Given the description of an element on the screen output the (x, y) to click on. 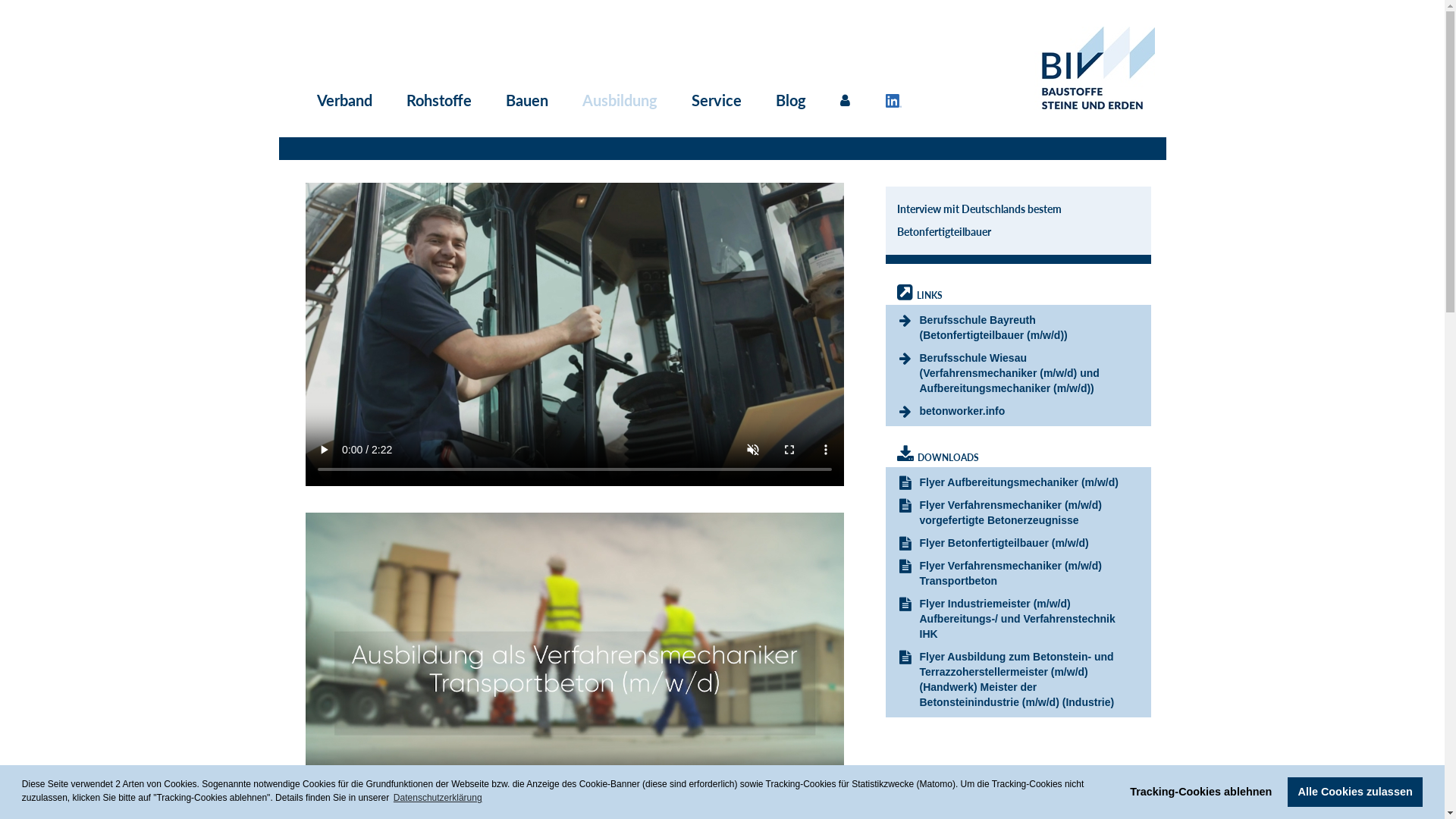
Flyer Verfahrensmechaniker (m/w/d) Transportbeton Element type: text (1010, 572)
Mitglieder-Login Element type: hover (849, 100)
Flyer Aufbereitungsmechaniker (m/w/d) Element type: text (1018, 482)
Ausbildung Element type: text (616, 100)
betonworker.info Element type: text (961, 410)
LinkedIn Kanal des BIV Element type: hover (893, 100)
Blog Element type: text (785, 100)
Rohstoffe Element type: text (435, 100)
Tracking-Cookies ablehnen Element type: text (1201, 791)
Bauen Element type: text (522, 100)
Alle Cookies zulassen Element type: text (1354, 791)
Interview mit Deutschlands bestem Betonfertigteilbauer Element type: text (978, 220)
LinkedIn Kanal des BIV Element type: hover (897, 100)
Service Element type: text (712, 100)
Verband Element type: text (340, 100)
Flyer Betonfertigteilbauer (m/w/d) Element type: text (1003, 542)
Berufsschule Bayreuth (Betonfertigteilbauer (m/w/d)) Element type: text (992, 327)
